Given the description of an element on the screen output the (x, y) to click on. 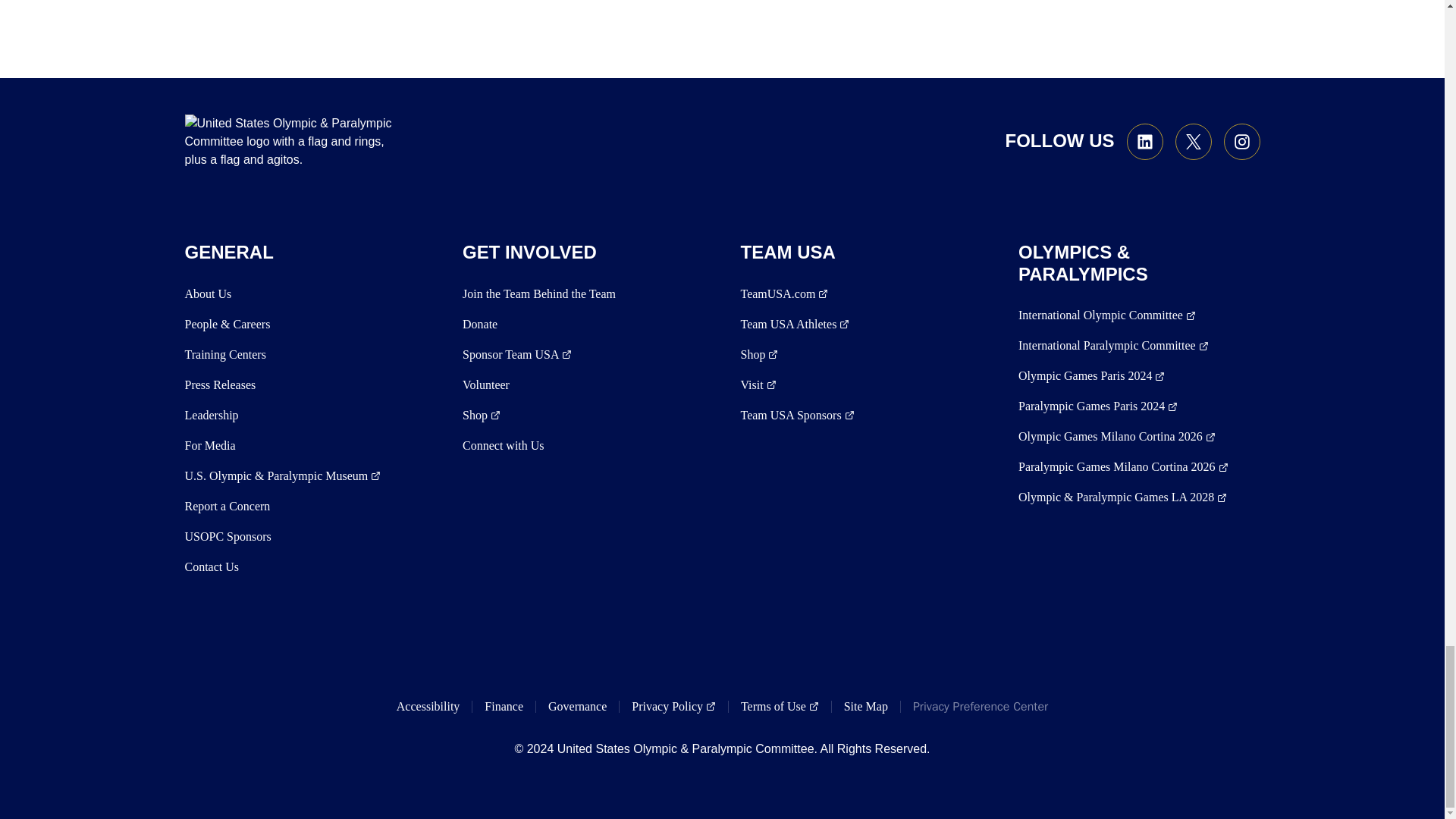
Go to Twitter (1192, 141)
Report a Concern (227, 506)
For Media (209, 445)
Go to Instagram (1242, 141)
Press Releases (220, 384)
USOPC Sponsors (227, 536)
Training Centers (225, 354)
About Us (207, 294)
Go to LinkedIn (1144, 141)
Leadership (211, 415)
